Given the description of an element on the screen output the (x, y) to click on. 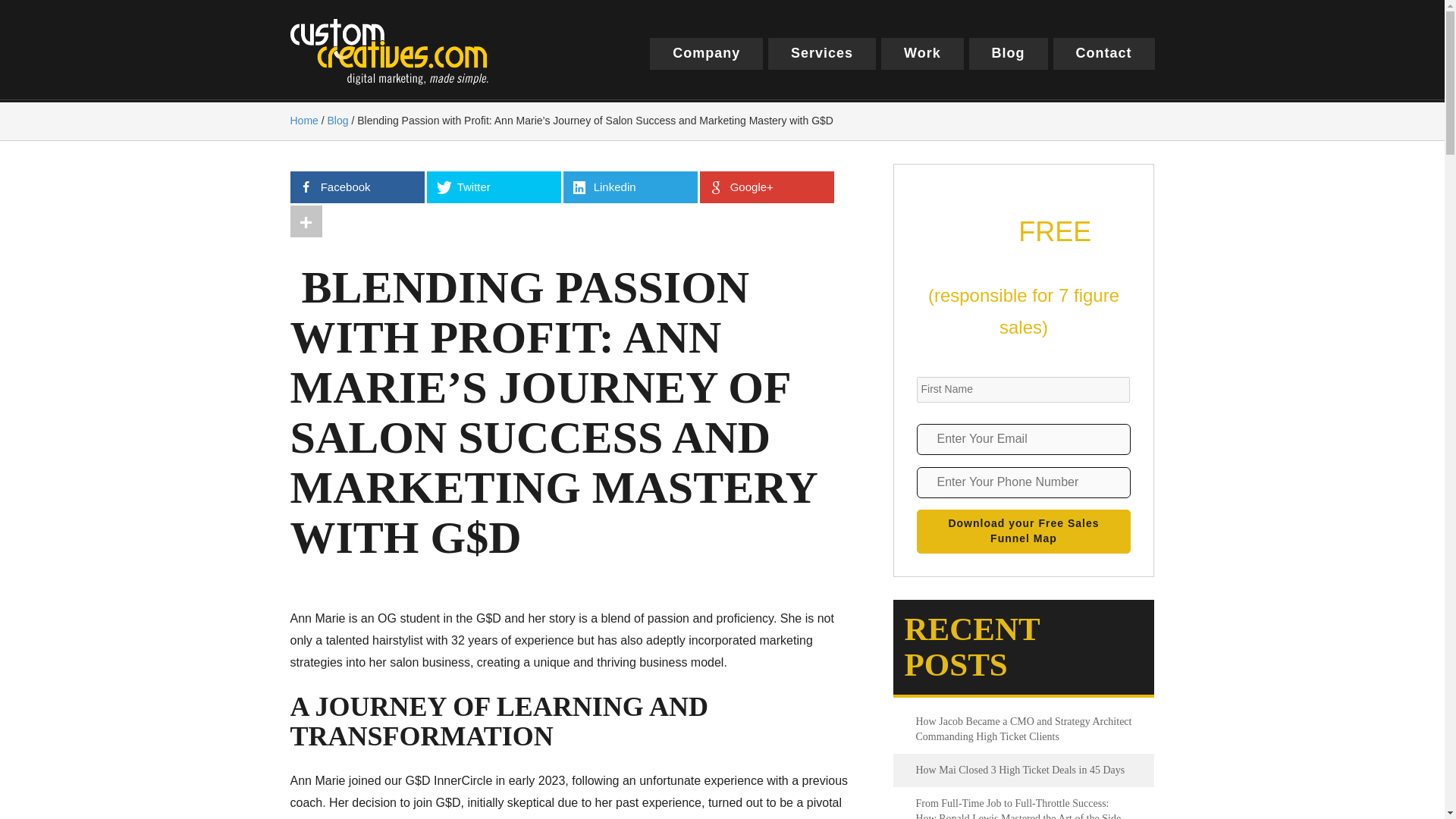
Blog (1008, 53)
Linkedin (629, 187)
Company (705, 53)
Facebook (356, 187)
Work (921, 53)
Home (303, 120)
Services (822, 53)
Twitter (493, 187)
Contact (1103, 53)
Blog (338, 120)
Download your Free Sales Funnel Map (1023, 531)
